Given the description of an element on the screen output the (x, y) to click on. 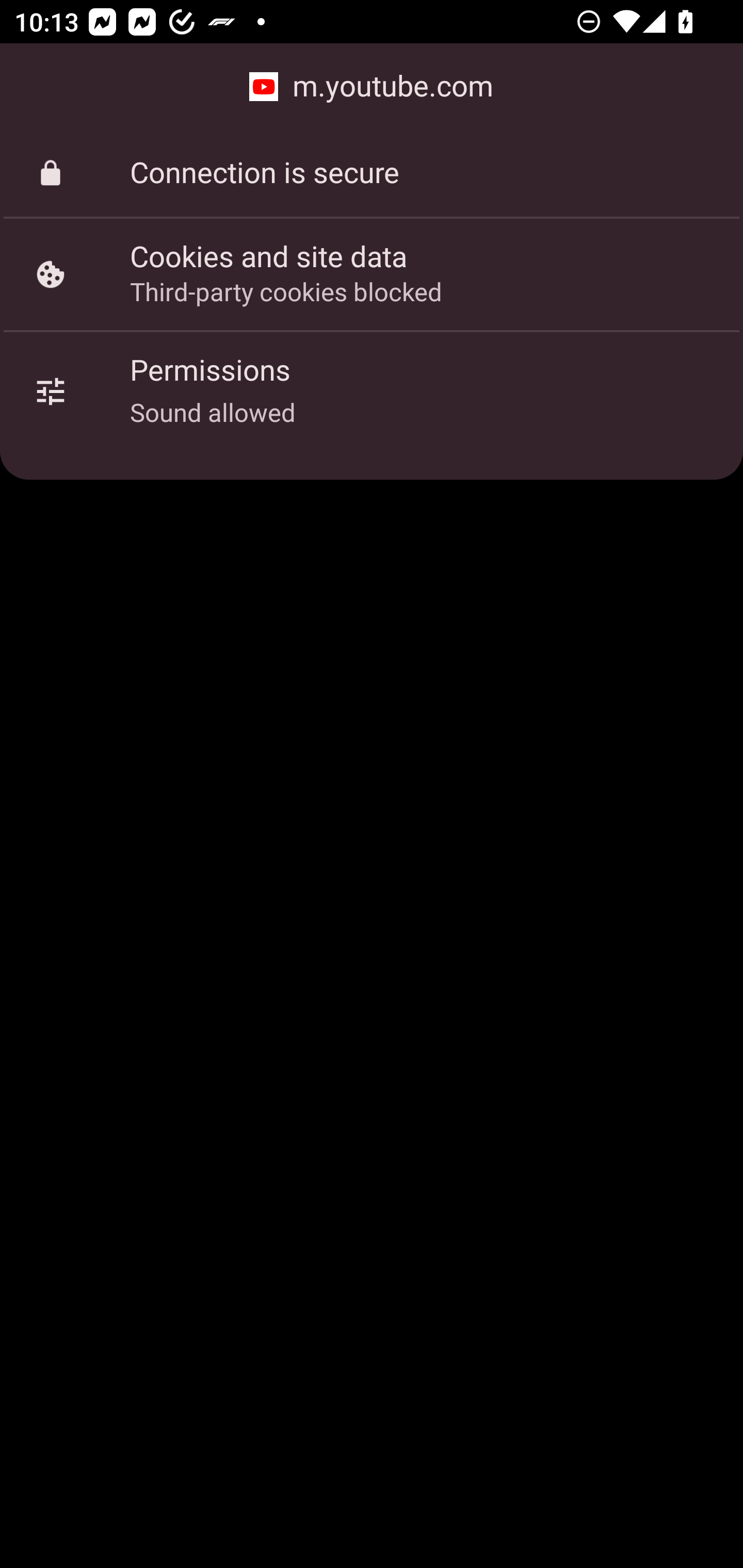
m.youtube.com (371, 86)
Connection is secure (371, 173)
Cookies and site data Third-party cookies blocked (371, 273)
Permissions Sound allowed (371, 391)
